Given the description of an element on the screen output the (x, y) to click on. 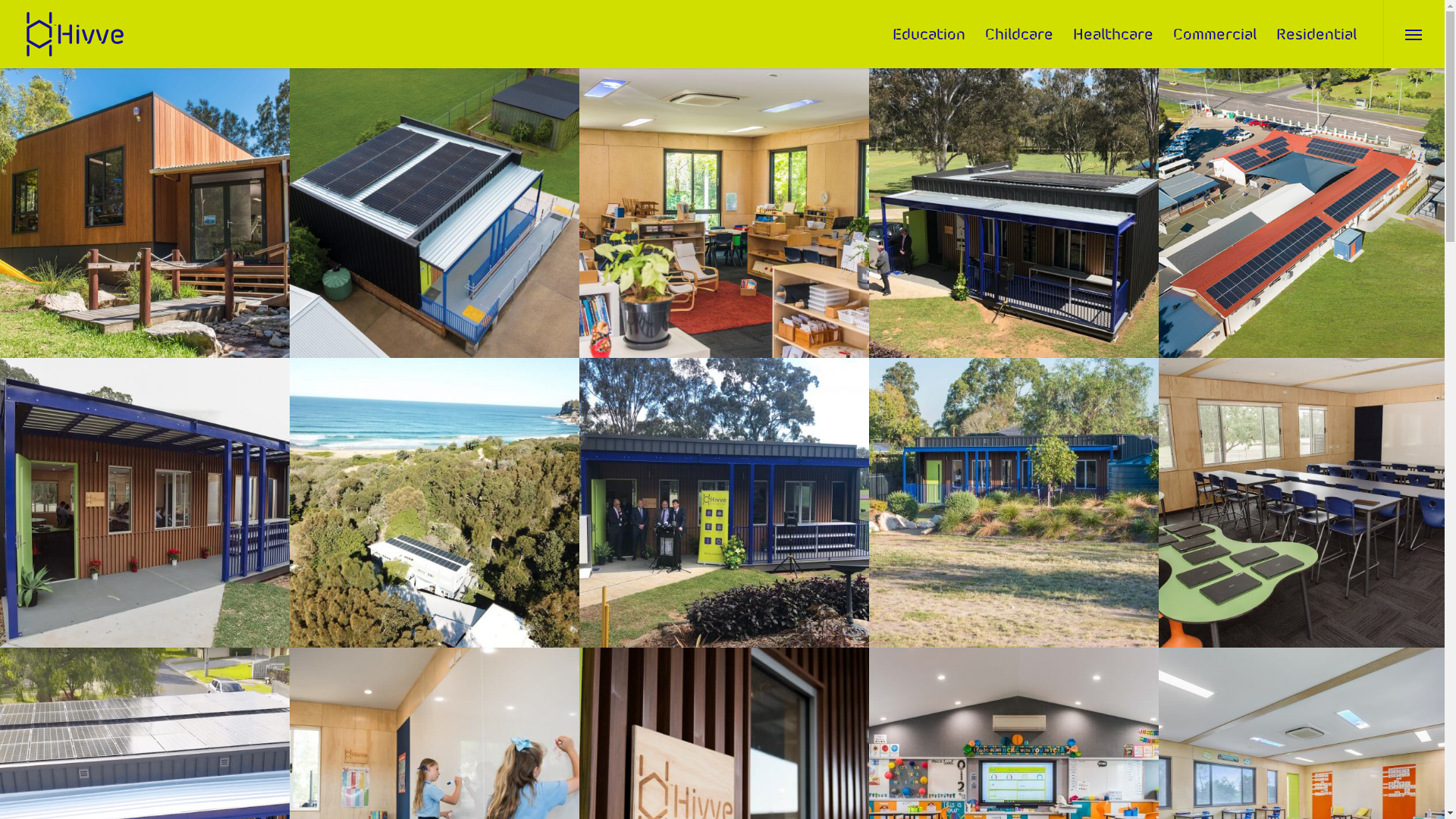
Residential Element type: text (1316, 33)
Commercial Element type: text (1214, 33)
Education Element type: text (928, 33)
Childcare Element type: text (1019, 33)
Healthcare Element type: text (1113, 33)
Menu Element type: text (1413, 34)
